Given the description of an element on the screen output the (x, y) to click on. 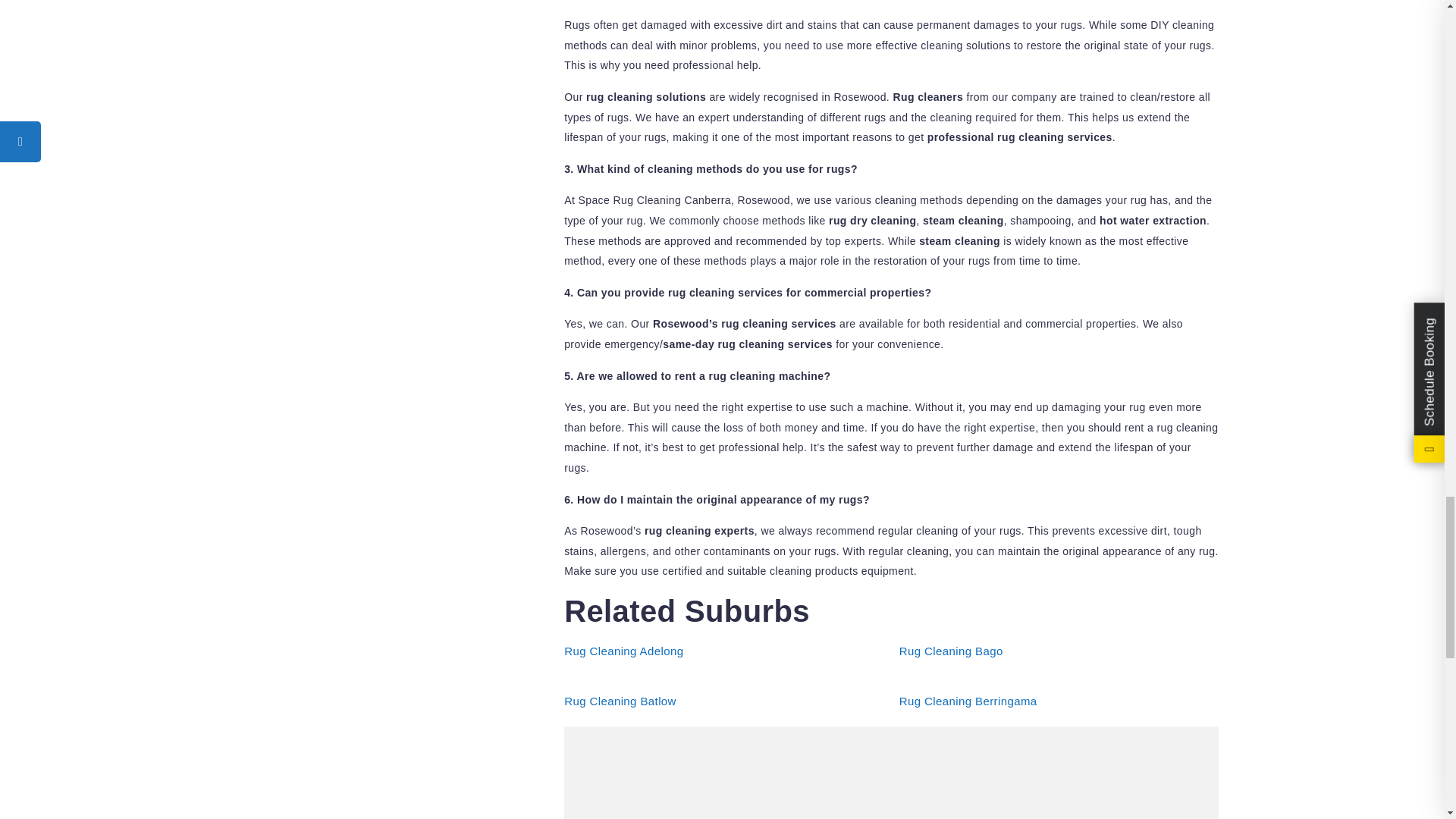
Rug Cleaning Berringama (967, 700)
Rug Cleaning Batlow (620, 700)
Rug Cleaning Bago (951, 650)
Rug Cleaning Berringama (967, 700)
Rug Cleaning Adelong (623, 650)
Rug Cleaning Batlow (620, 700)
Rug Cleaning Bago (951, 650)
Rug Cleaning Adelong (623, 650)
